Given the description of an element on the screen output the (x, y) to click on. 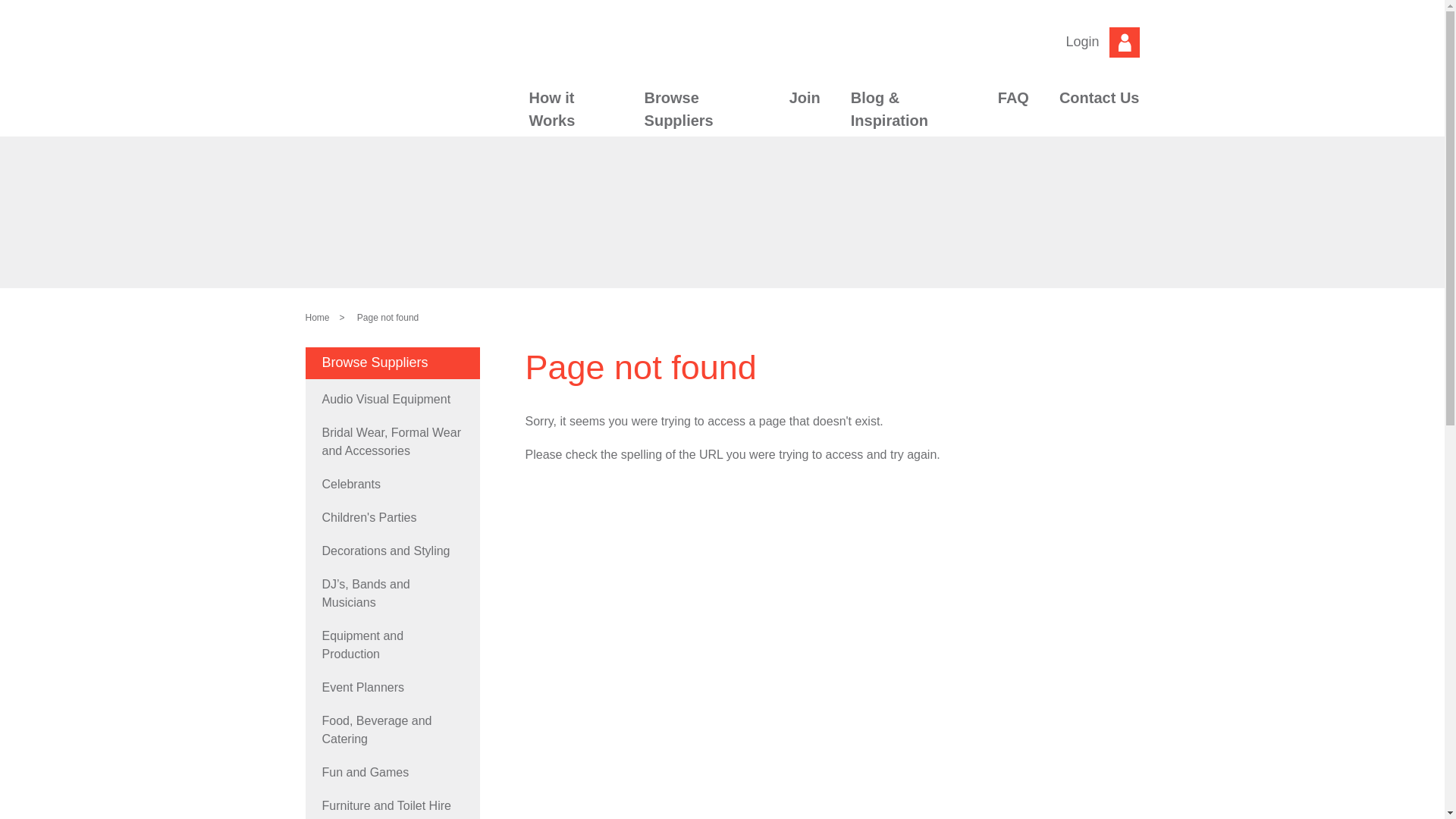
Login Element type: text (1102, 41)
Fun and Games Element type: text (391, 772)
Blog & Inspiration Element type: text (908, 115)
FAQ Element type: text (1013, 104)
Audio Visual Equipment Element type: text (391, 399)
Contact Us Element type: text (1091, 104)
Event Planners Element type: text (391, 687)
Join Element type: text (804, 104)
Decorations and Styling Element type: text (391, 550)
Celebrants Element type: text (391, 484)
Bridal Wear, Formal Wear and Accessories Element type: text (391, 441)
Children's Parties Element type: text (391, 517)
How it Works Element type: text (571, 115)
Equipment and Production Element type: text (391, 645)
Food, Beverage and Catering Element type: text (391, 730)
Browse Suppliers Element type: text (701, 115)
Browse Suppliers Element type: text (391, 363)
Home Element type: text (316, 317)
